Given the description of an element on the screen output the (x, y) to click on. 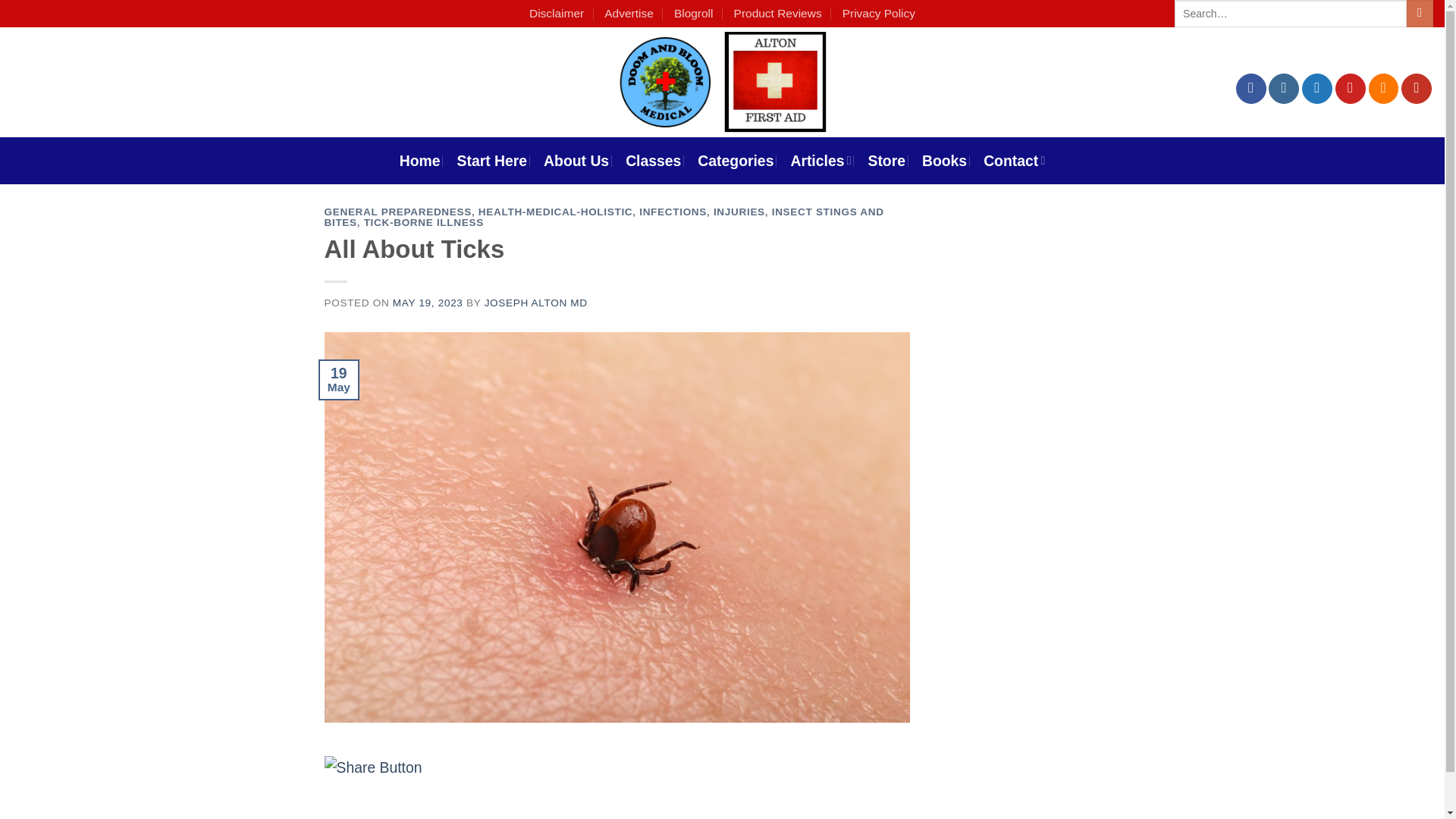
INJURIES (739, 211)
Articles (820, 160)
Contact (1014, 160)
Disclaimer (556, 13)
Categories (735, 160)
Product Reviews (777, 13)
MAY 19, 2023 (428, 302)
Classes (653, 160)
INSECT STINGS AND BITES (603, 217)
GENERAL PREPAREDNESS (397, 211)
INFECTIONS (672, 211)
TICK-BORNE ILLNESS (423, 222)
About Us (575, 160)
Start Here (492, 160)
Follow on YouTube (1415, 88)
